Given the description of an element on the screen output the (x, y) to click on. 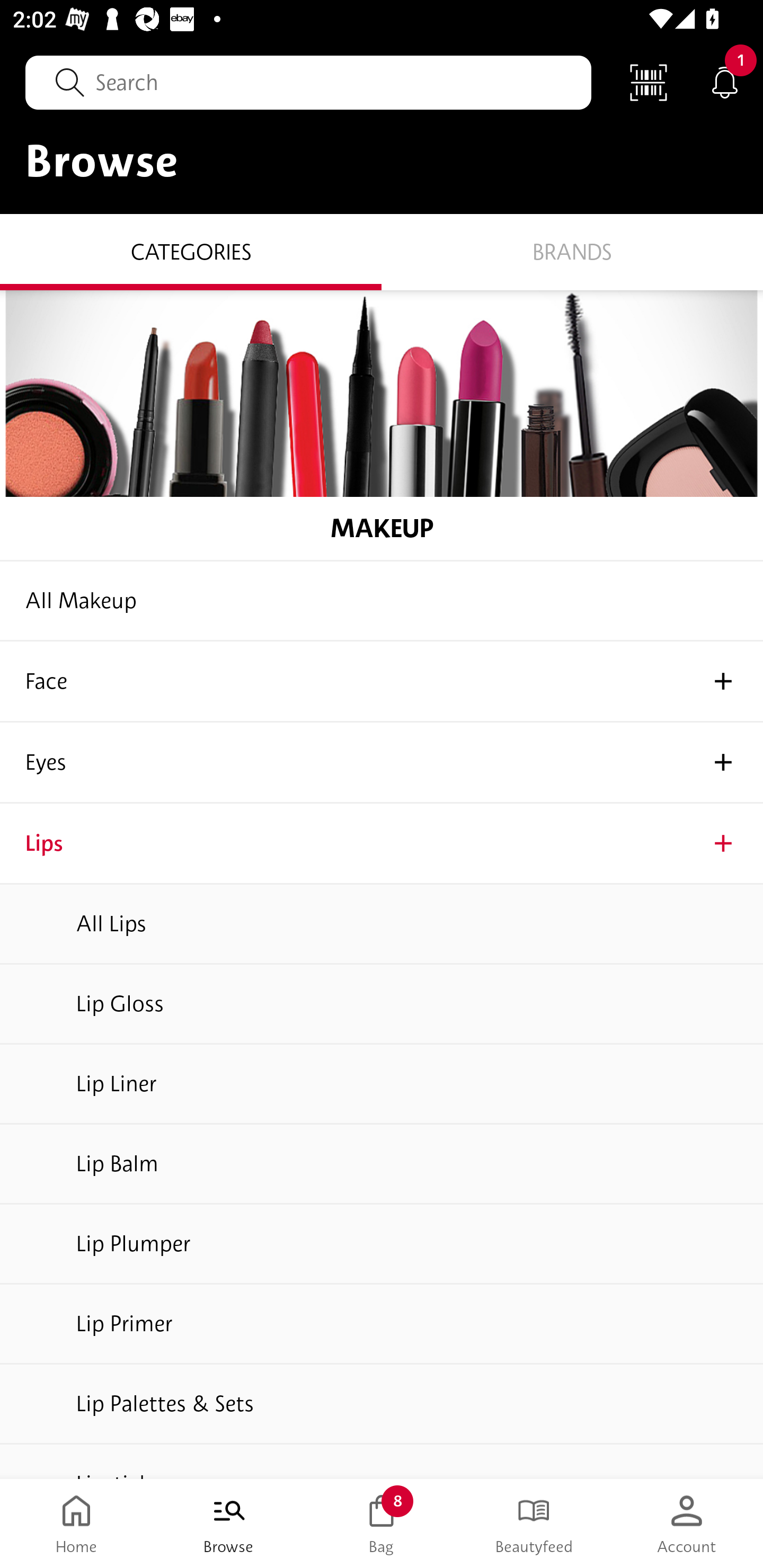
Scan Code (648, 81)
Notifications (724, 81)
Search (308, 81)
Brands BRANDS (572, 251)
All Makeup (381, 601)
Face (381, 681)
Eyes (381, 762)
All Lips (381, 924)
Lip Gloss (381, 1004)
Lip Liner (381, 1084)
Lip Balm (381, 1164)
Lip Plumper (381, 1244)
Lip Primer (381, 1324)
Lip Palettes & Sets (381, 1404)
Home (76, 1523)
Bag 8 Bag (381, 1523)
Beautyfeed (533, 1523)
Account (686, 1523)
